Given the description of an element on the screen output the (x, y) to click on. 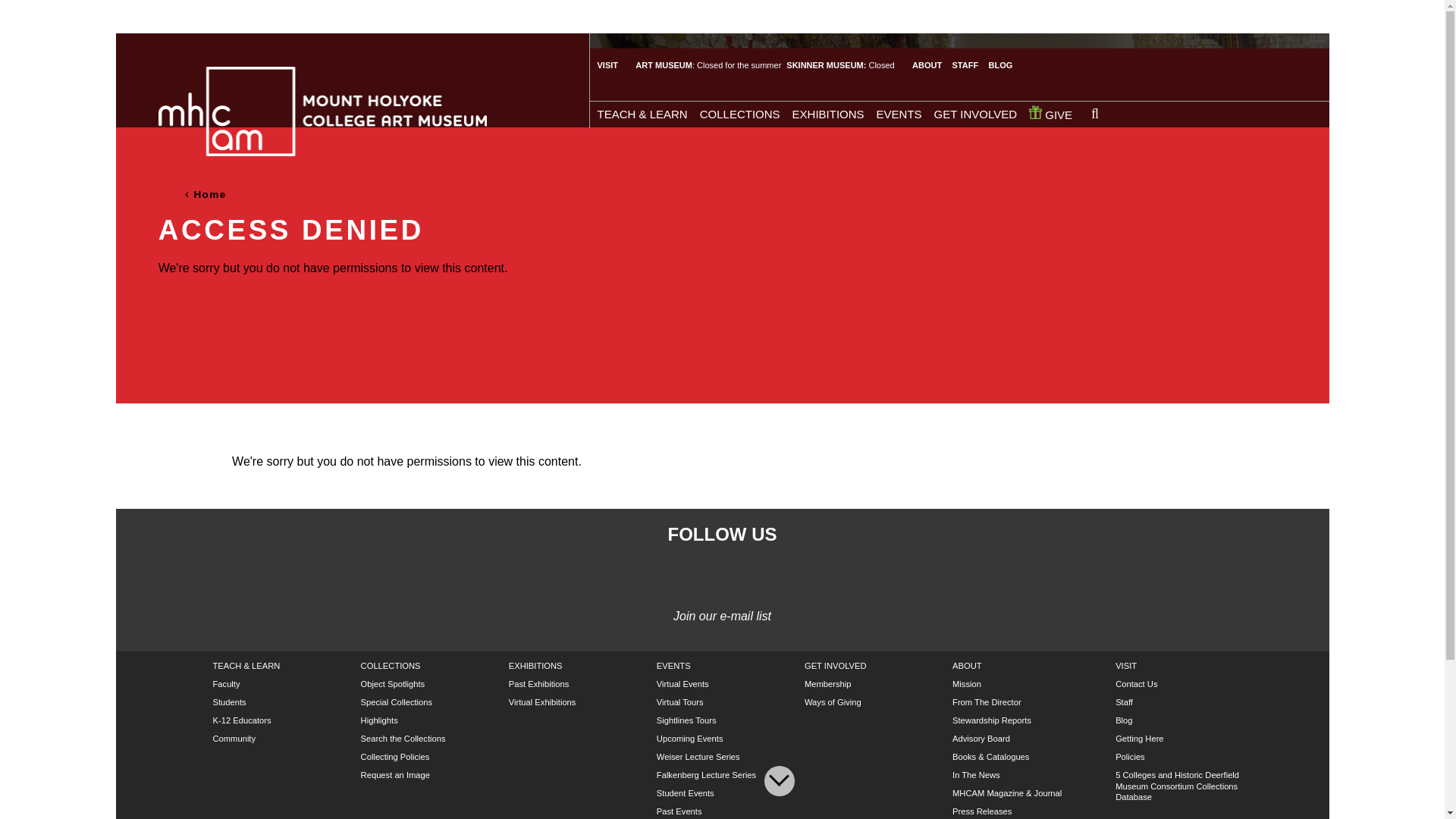
Current Exhibitions (535, 665)
K12 Educators (241, 719)
Faculty (226, 683)
Staff (1123, 701)
Mount Holyoke College Art Museum (322, 111)
Highlights (379, 719)
Past Exhibitions (538, 683)
Community (234, 737)
Get Involved Overview (835, 665)
5 Colleges and Historic Deerfield Collections Database (1177, 785)
Students (229, 701)
